Given the description of an element on the screen output the (x, y) to click on. 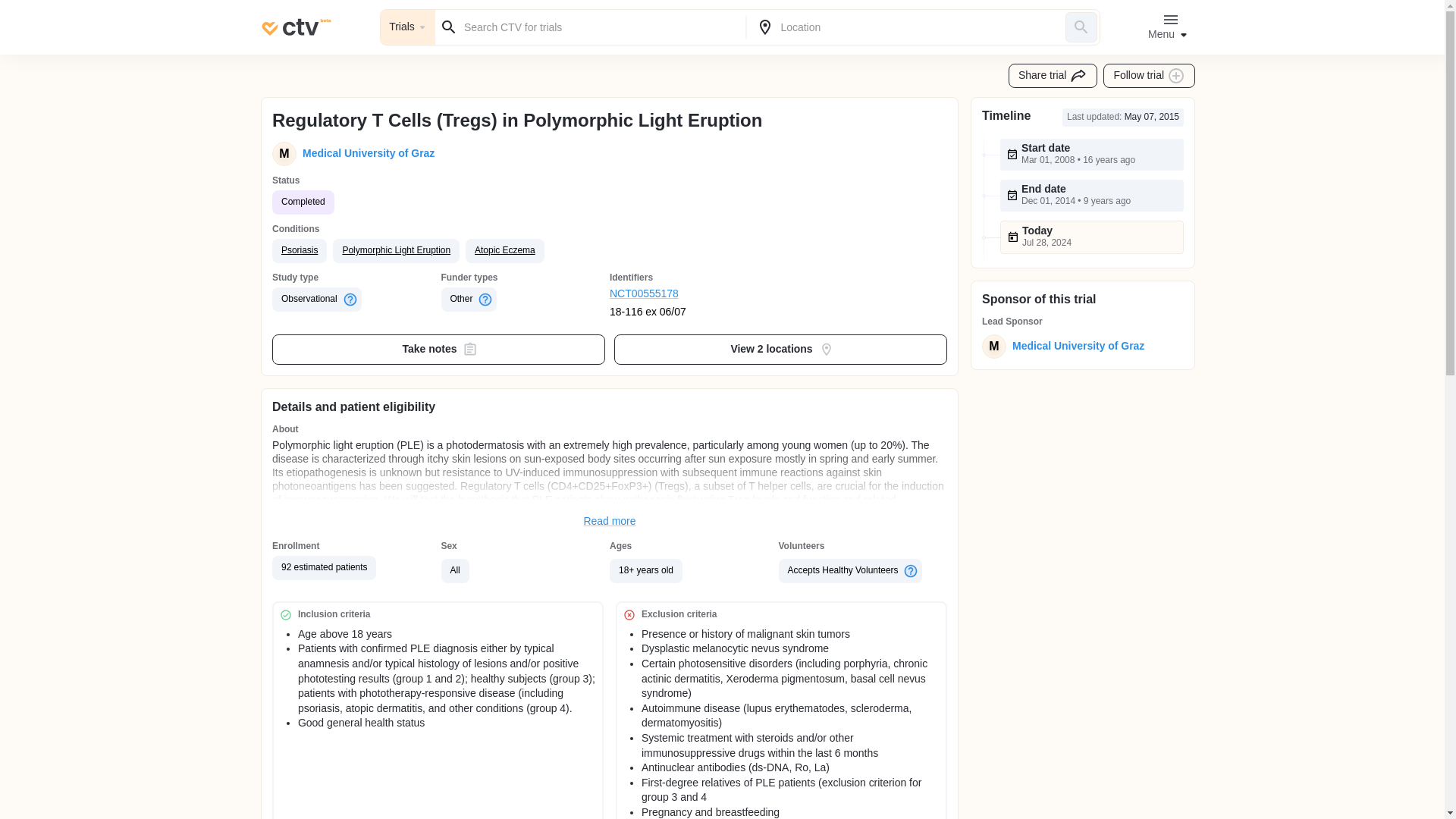
Medical University of Graz (365, 153)
Trials (407, 27)
NCT00555178 (694, 294)
Follow trial (1149, 75)
Take notes (438, 349)
Share trial (1053, 75)
View 2 locations (780, 349)
Medical University of Graz (1075, 345)
Read more (609, 521)
